Given the description of an element on the screen output the (x, y) to click on. 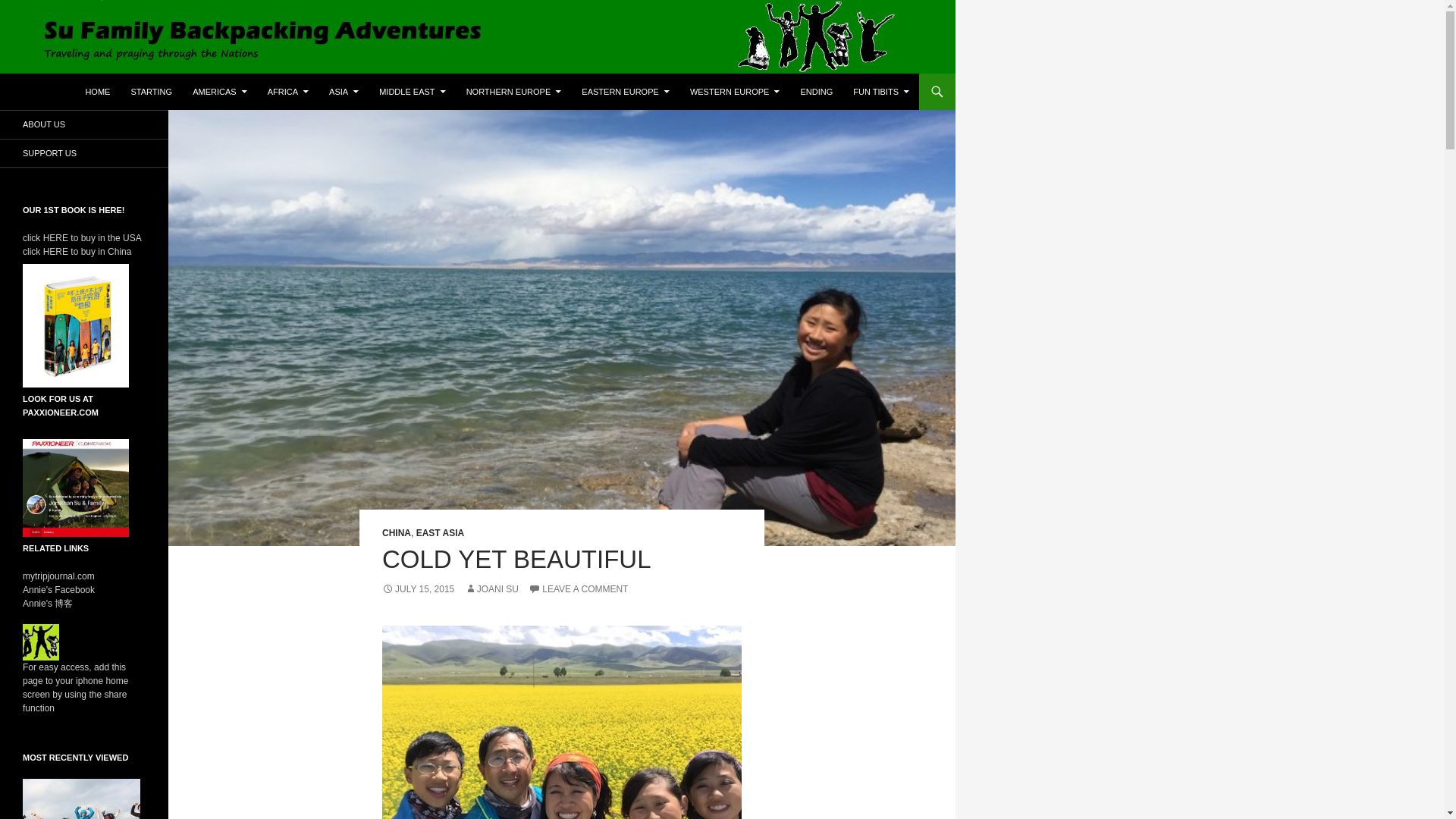
Su Family Backpacking Adventures (138, 91)
AMERICAS (219, 91)
HOME (97, 91)
EASTERN EUROPE (625, 91)
MIDDLE EAST (411, 91)
NORTHERN EUROPE (513, 91)
ASIA (344, 91)
AFRICA (288, 91)
STARTING (150, 91)
